Given the description of an element on the screen output the (x, y) to click on. 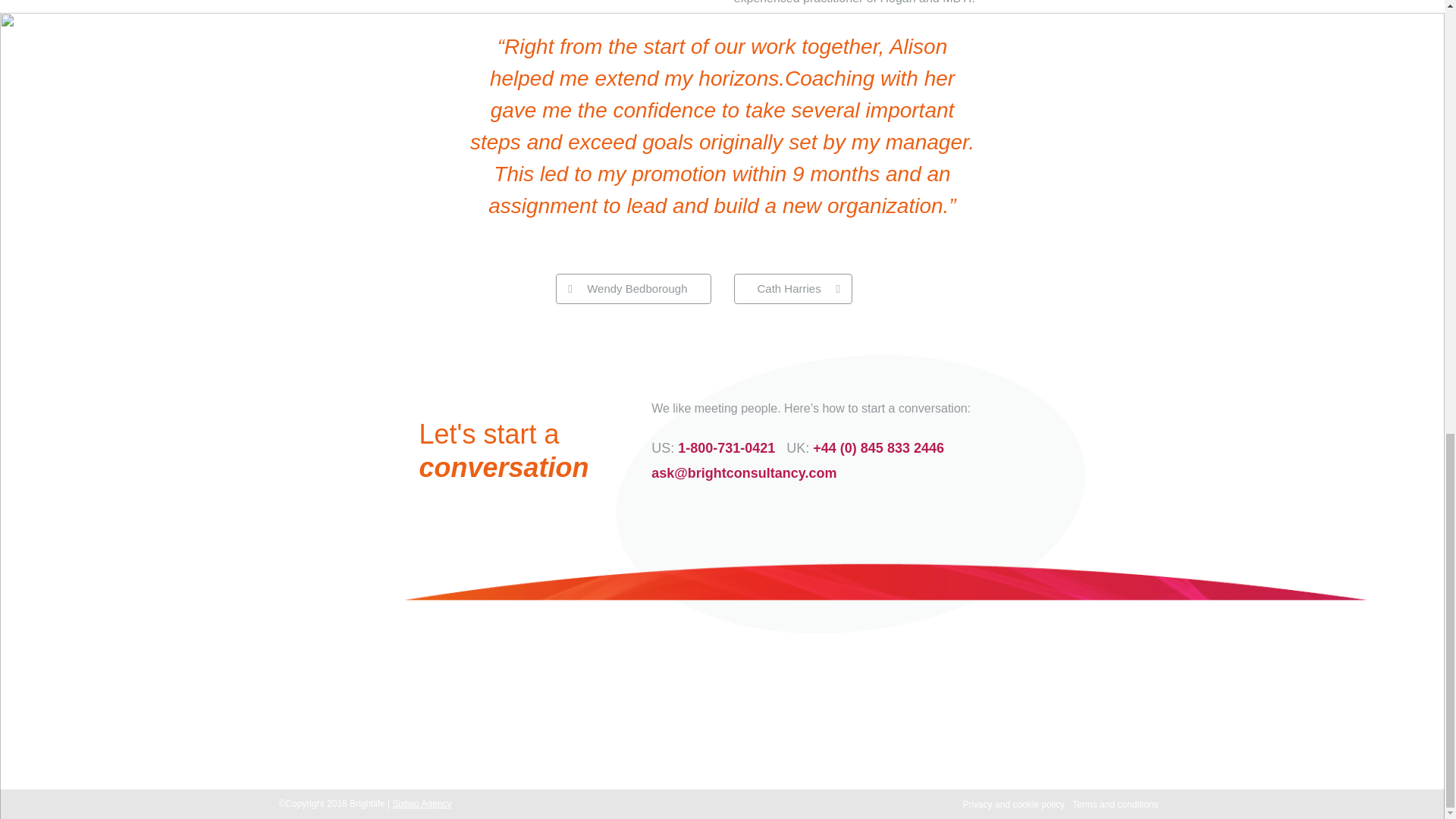
Wendy Bedborough (633, 288)
Terms and conditions (1114, 804)
1-800-731-0421 (726, 447)
1-800-731-0421 (553, 729)
Privacy and cookie policy (1013, 804)
Cath Harries (792, 288)
Sixtwo Agency (422, 803)
